Given the description of an element on the screen output the (x, y) to click on. 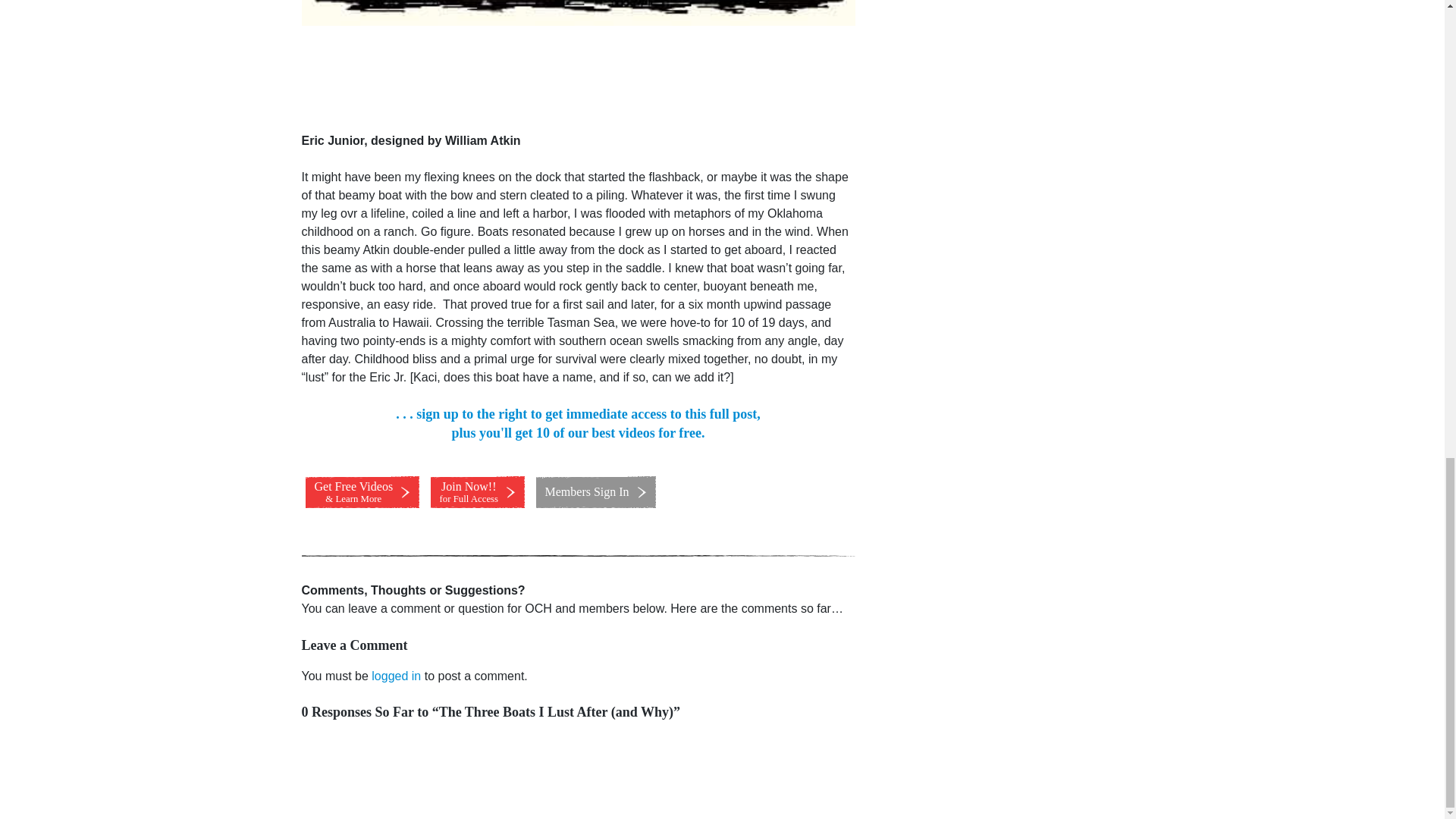
logged in (395, 675)
EricJr-1 (578, 12)
Members Sign In (477, 491)
